Given the description of an element on the screen output the (x, y) to click on. 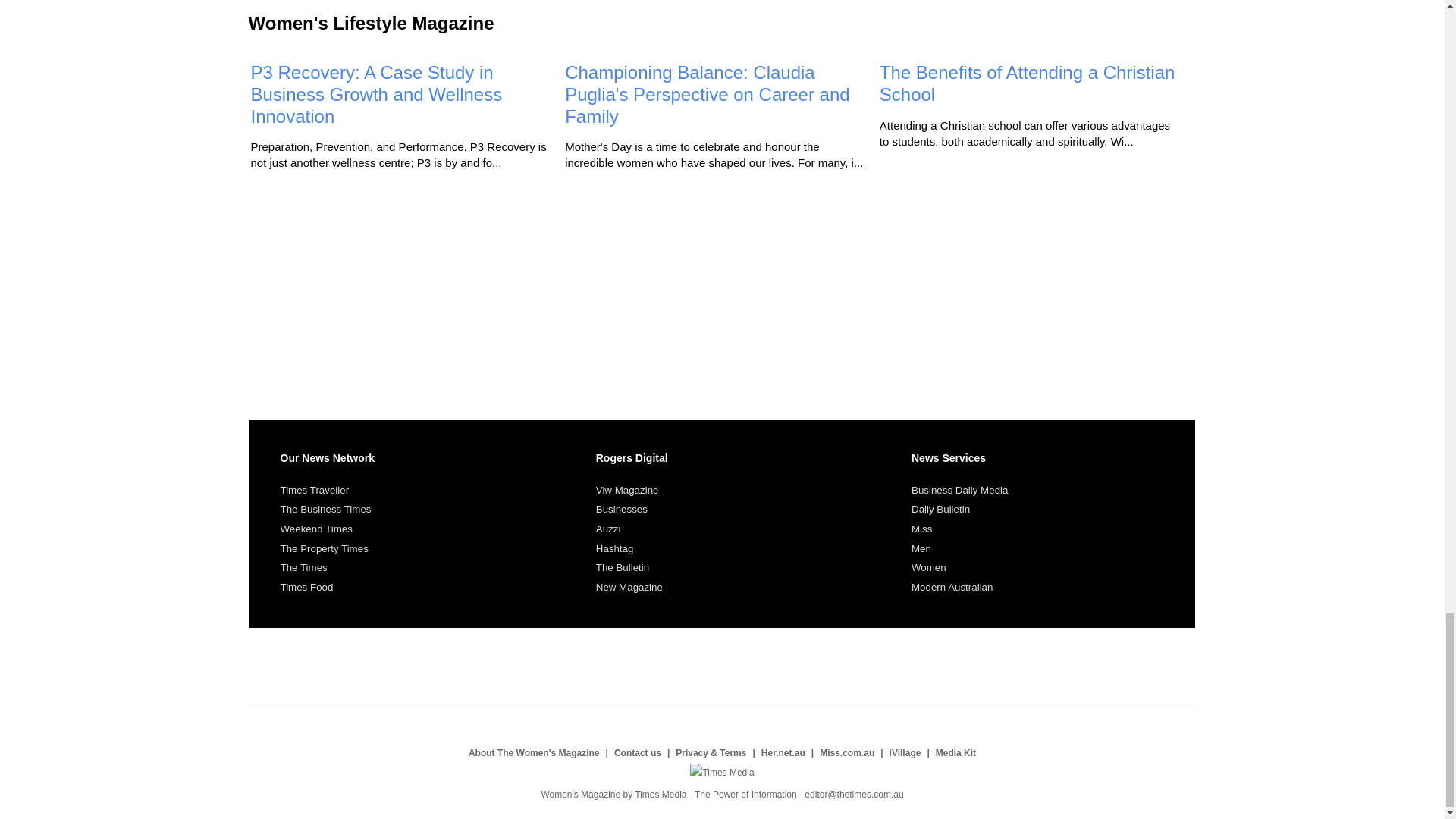
Times Traveller (315, 490)
The Benefits of Attending a Christian School (1026, 83)
Hashtag (614, 548)
Times Food (307, 586)
The Times (304, 567)
The Property Times (324, 548)
The Business Times (326, 509)
